Given the description of an element on the screen output the (x, y) to click on. 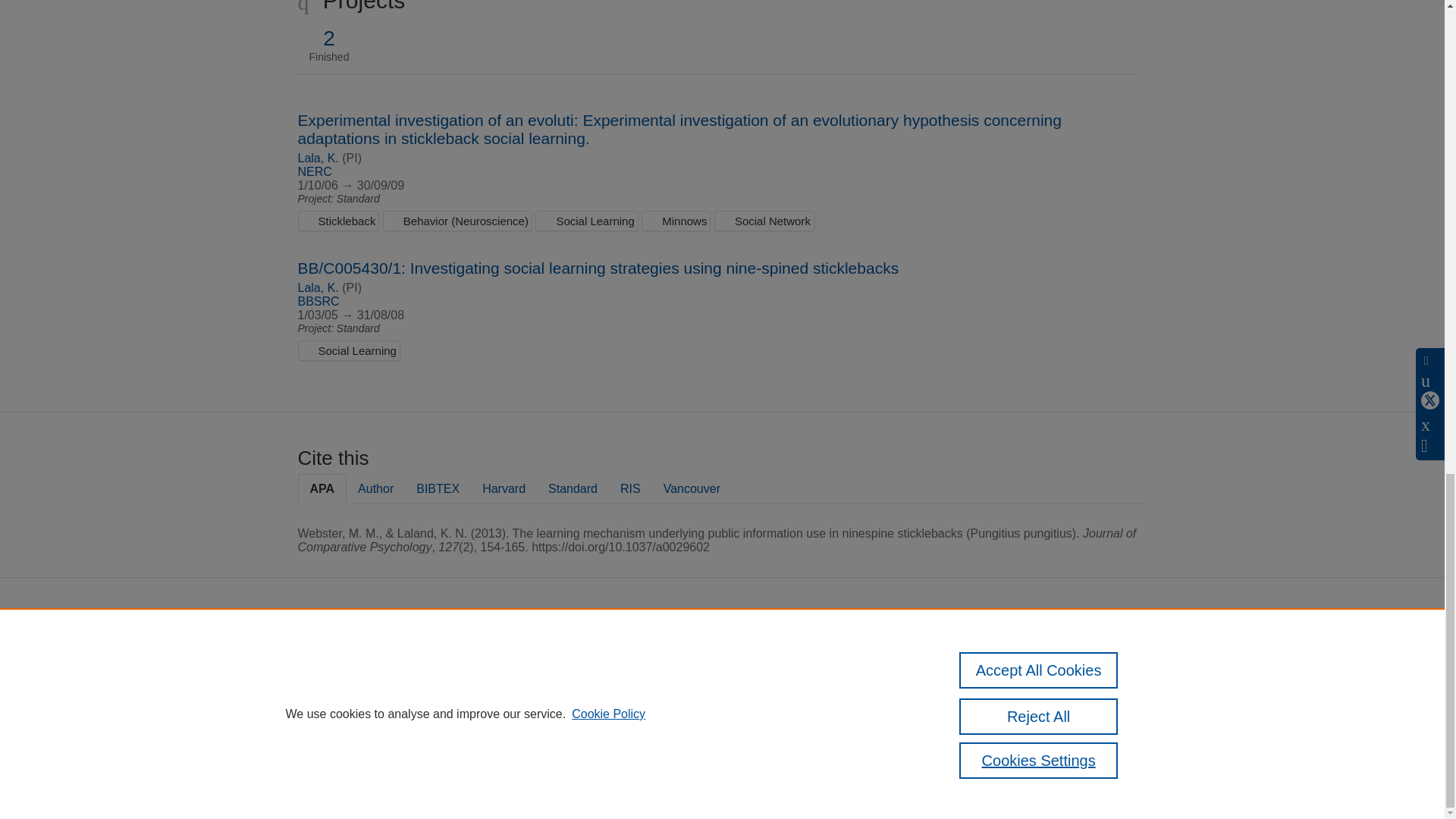
NERC (314, 171)
2 (328, 38)
Lala, K. (317, 157)
